Given the description of an element on the screen output the (x, y) to click on. 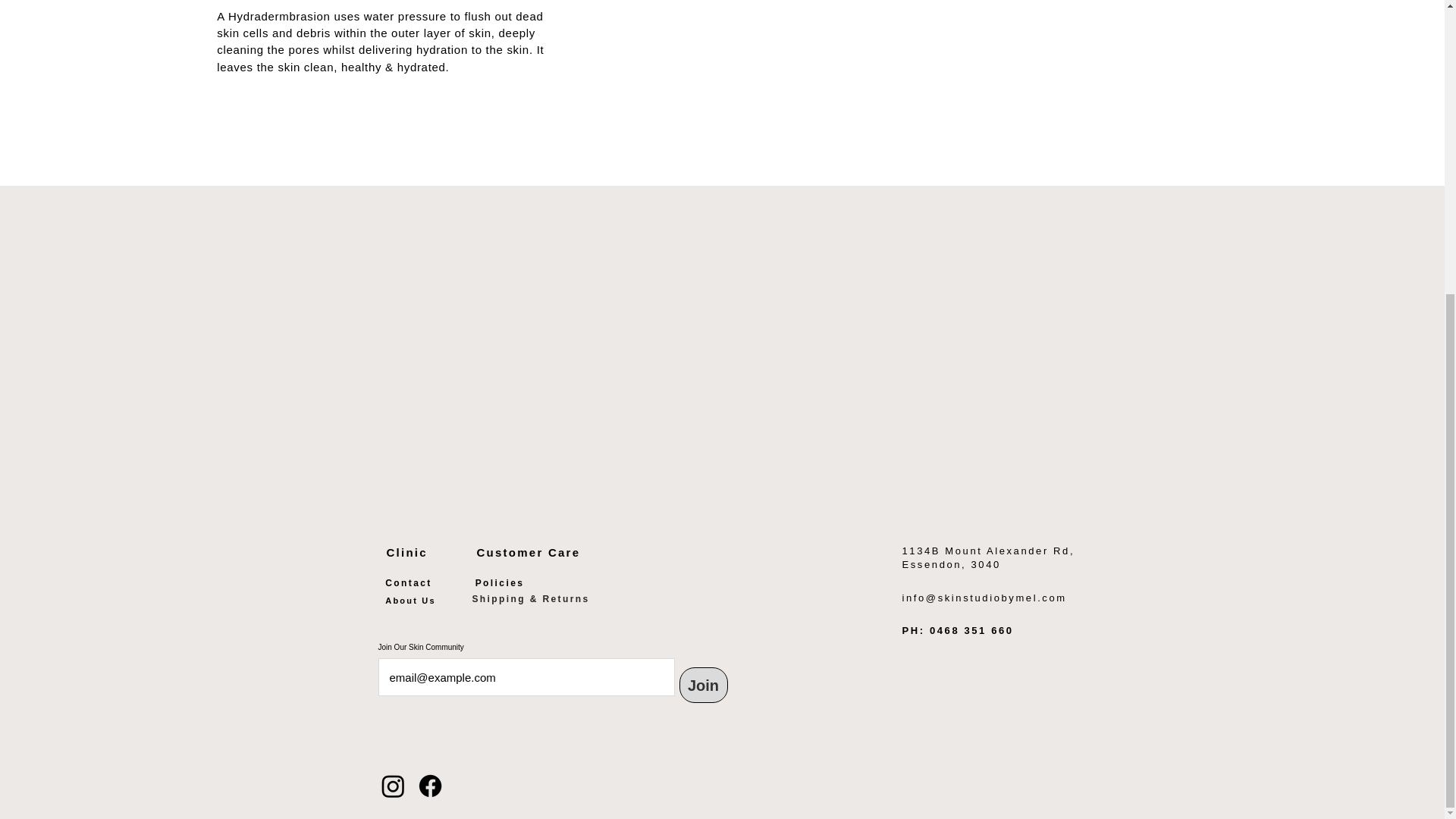
Policies (499, 583)
Join (703, 684)
About Us (410, 600)
Contact (407, 583)
